Given the description of an element on the screen output the (x, y) to click on. 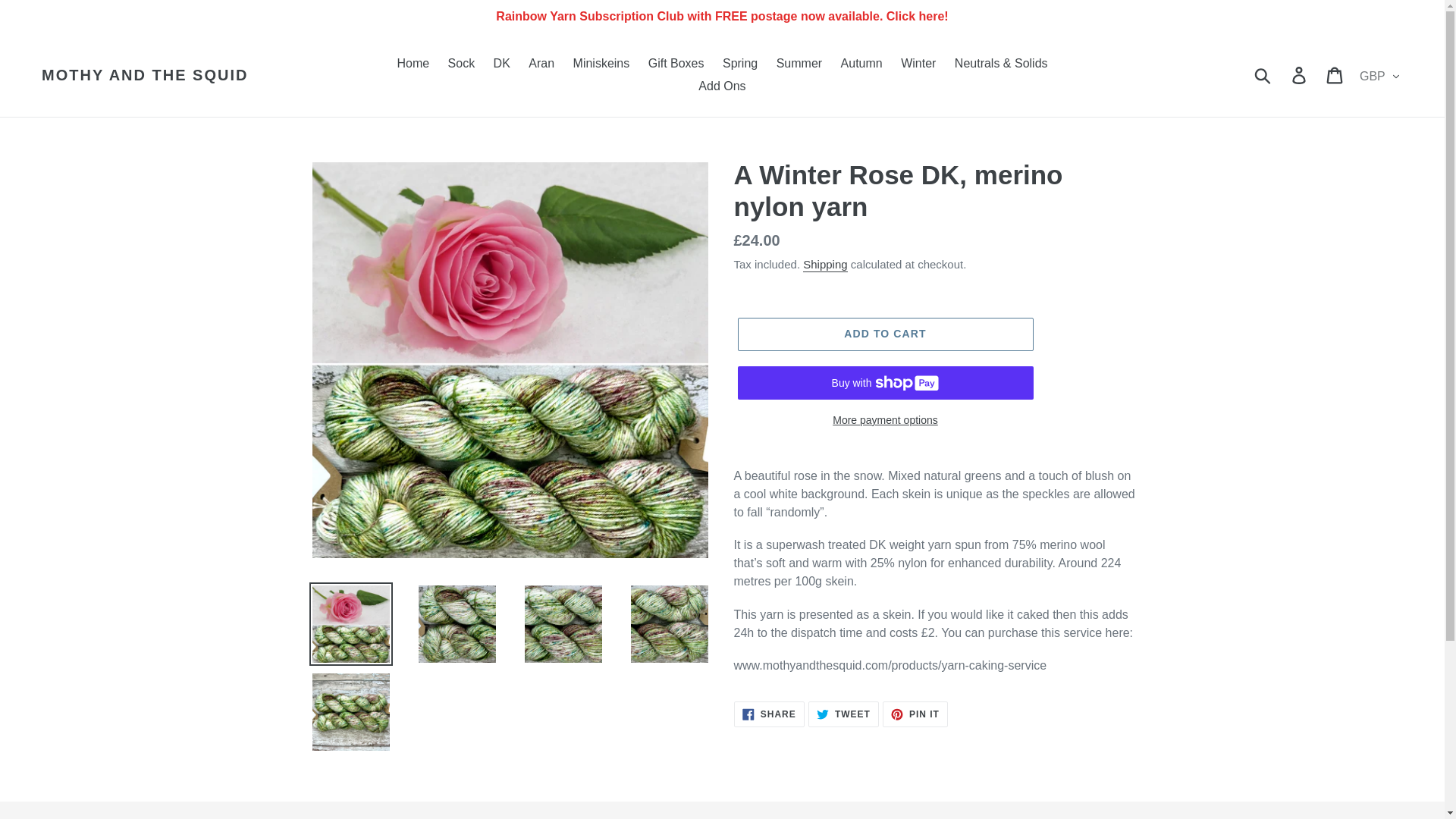
Gift Boxes (675, 63)
Autumn (860, 63)
Add Ons (721, 86)
Cart (1335, 74)
Home (412, 63)
Miniskeins (601, 63)
Aran (541, 63)
Submit (1263, 74)
Spring (739, 63)
Winter (918, 63)
Summer (798, 63)
DK (502, 63)
Log in (1299, 74)
MOTHY AND THE SQUID (144, 75)
Sock (462, 63)
